Given the description of an element on the screen output the (x, y) to click on. 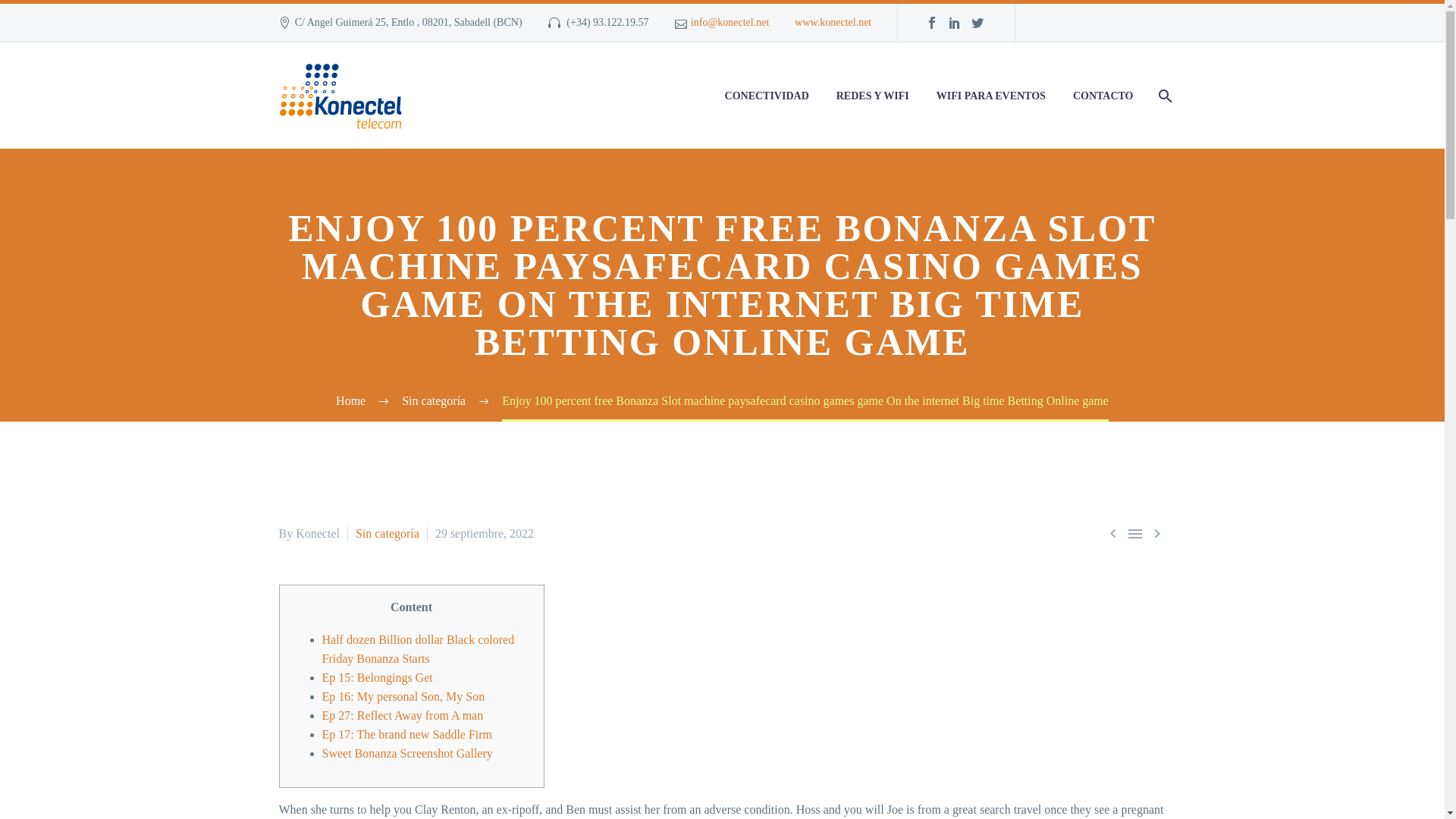
twitter (977, 22)
www.konectel.net (832, 21)
Ep 15: Belongings Get (376, 676)
Sweet Bonanza Screenshot Gallery (406, 753)
REDES Y WIFI (872, 95)
CONTACTO (1102, 95)
Ep 17: The brand new Saddle Firm (406, 734)
Ep 27: Reflect Away from A man (402, 715)
Post Anterior (1112, 533)
